Given the description of an element on the screen output the (x, y) to click on. 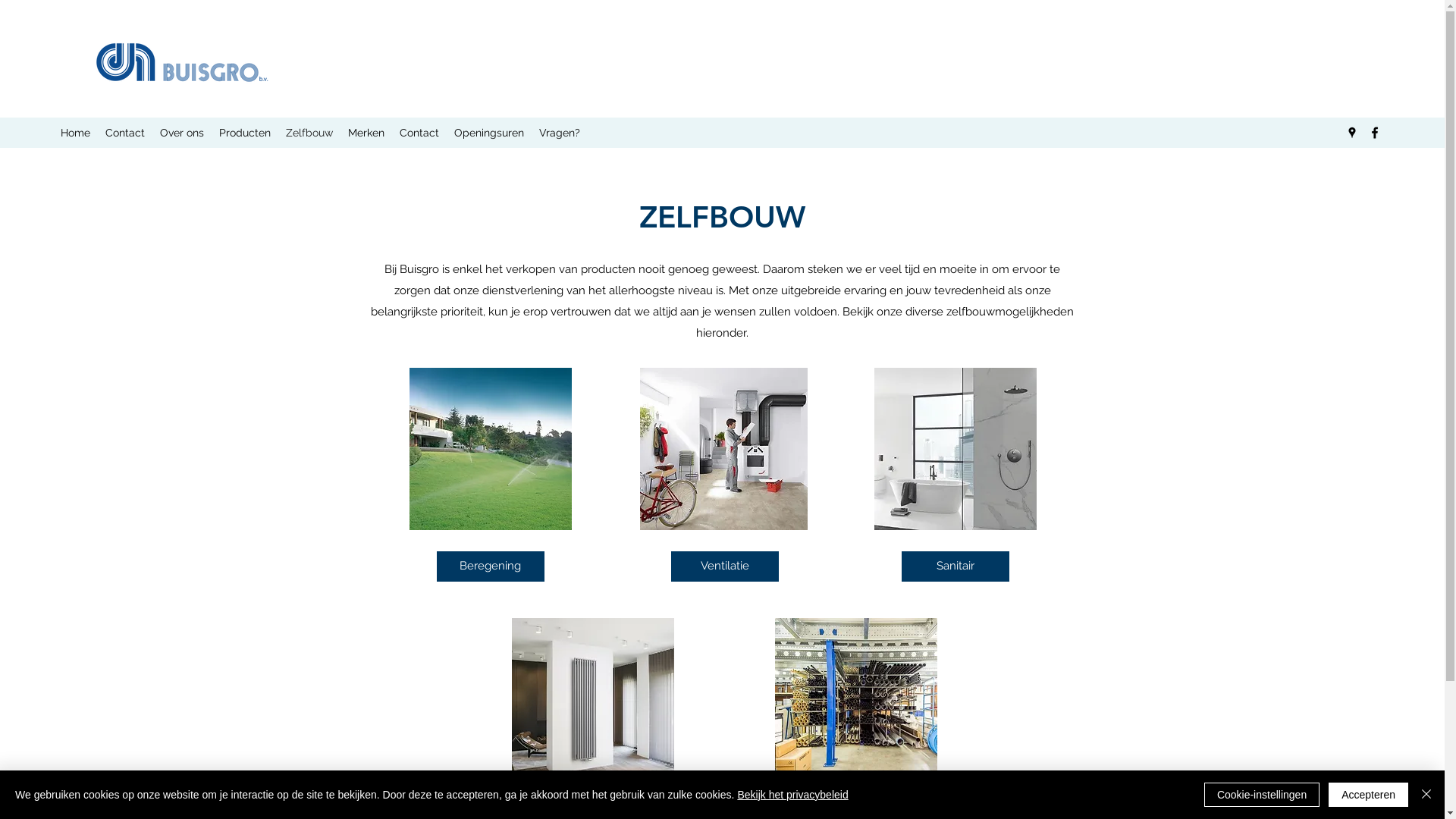
Merken Element type: text (366, 132)
Sanitair Element type: text (954, 565)
Over ons Element type: text (181, 132)
Ventilatie Element type: text (724, 565)
Producten Element type: text (244, 132)
Beregening Element type: text (490, 565)
Openingsuren Element type: text (488, 132)
Zelfbouw Element type: text (309, 132)
Accepteren Element type: text (1368, 794)
Cookie-instellingen Element type: text (1261, 794)
Contact Element type: text (124, 132)
Home Element type: text (75, 132)
Bekijk het privacybeleid Element type: text (792, 794)
Contact Element type: text (419, 132)
Vragen? Element type: text (559, 132)
